Given the description of an element on the screen output the (x, y) to click on. 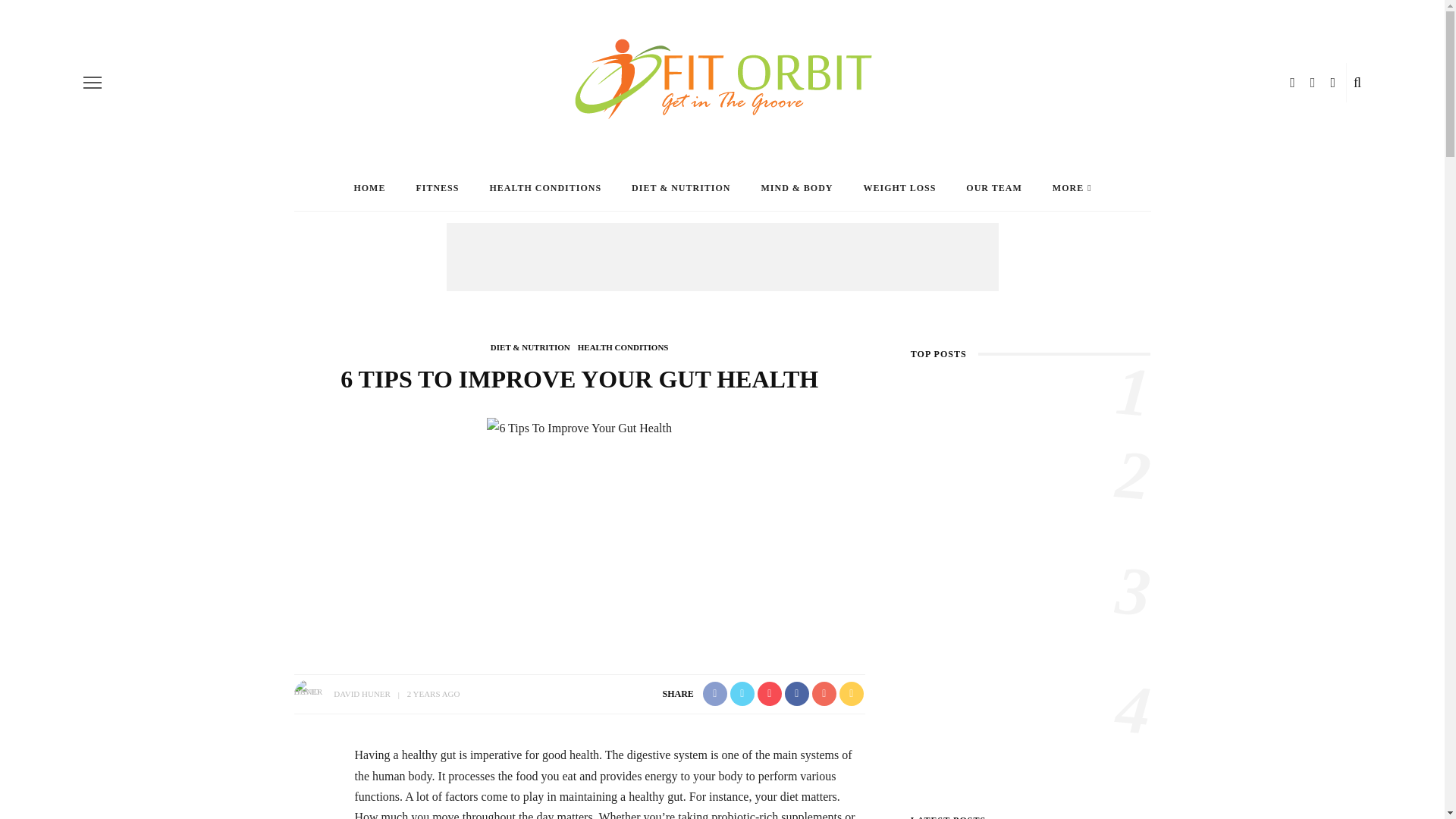
MORE (1071, 187)
HEALTH CONDITIONS (623, 347)
6 Tips To Improve Your Gut Health (578, 426)
Instagram (1332, 82)
WEIGHT LOSS (900, 187)
OUR TEAM (993, 187)
Twitter (1313, 82)
search (1356, 82)
Post by David Huner (361, 693)
DAVID HUNER (361, 693)
HEALTH CONDITIONS (544, 187)
off canvas button (91, 82)
HOME (368, 187)
FITNESS (437, 187)
Facebook (1292, 82)
